Given the description of an element on the screen output the (x, y) to click on. 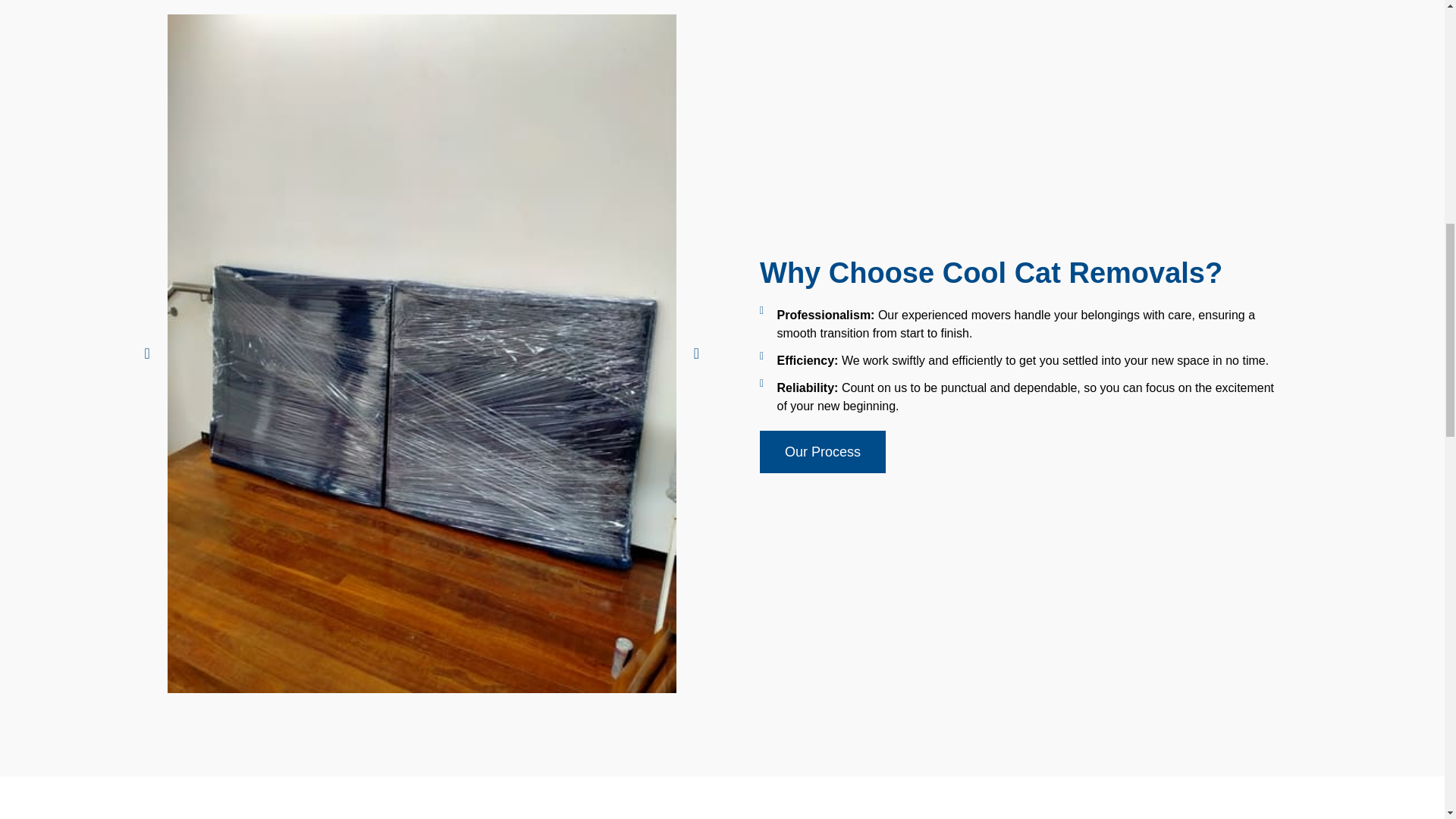
Our Process (822, 451)
